Given the description of an element on the screen output the (x, y) to click on. 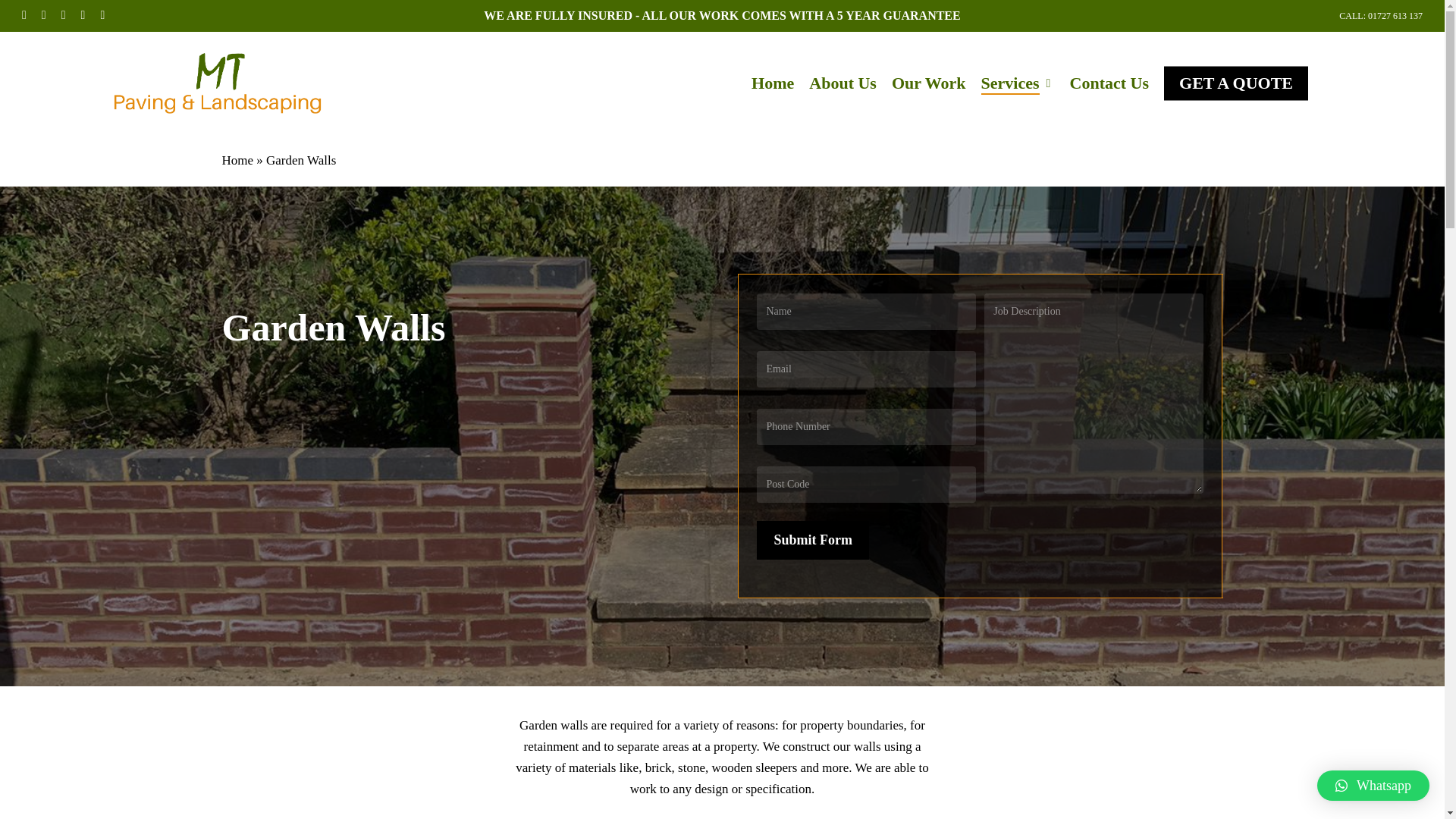
Home (237, 160)
CALL: 01727 613 137 (1380, 15)
About Us (842, 83)
Services (1017, 83)
Submit Form (813, 539)
Contact Us (1110, 83)
GET A QUOTE (1235, 83)
Submit Form (813, 539)
Our Work (928, 83)
Home (772, 83)
